Given the description of an element on the screen output the (x, y) to click on. 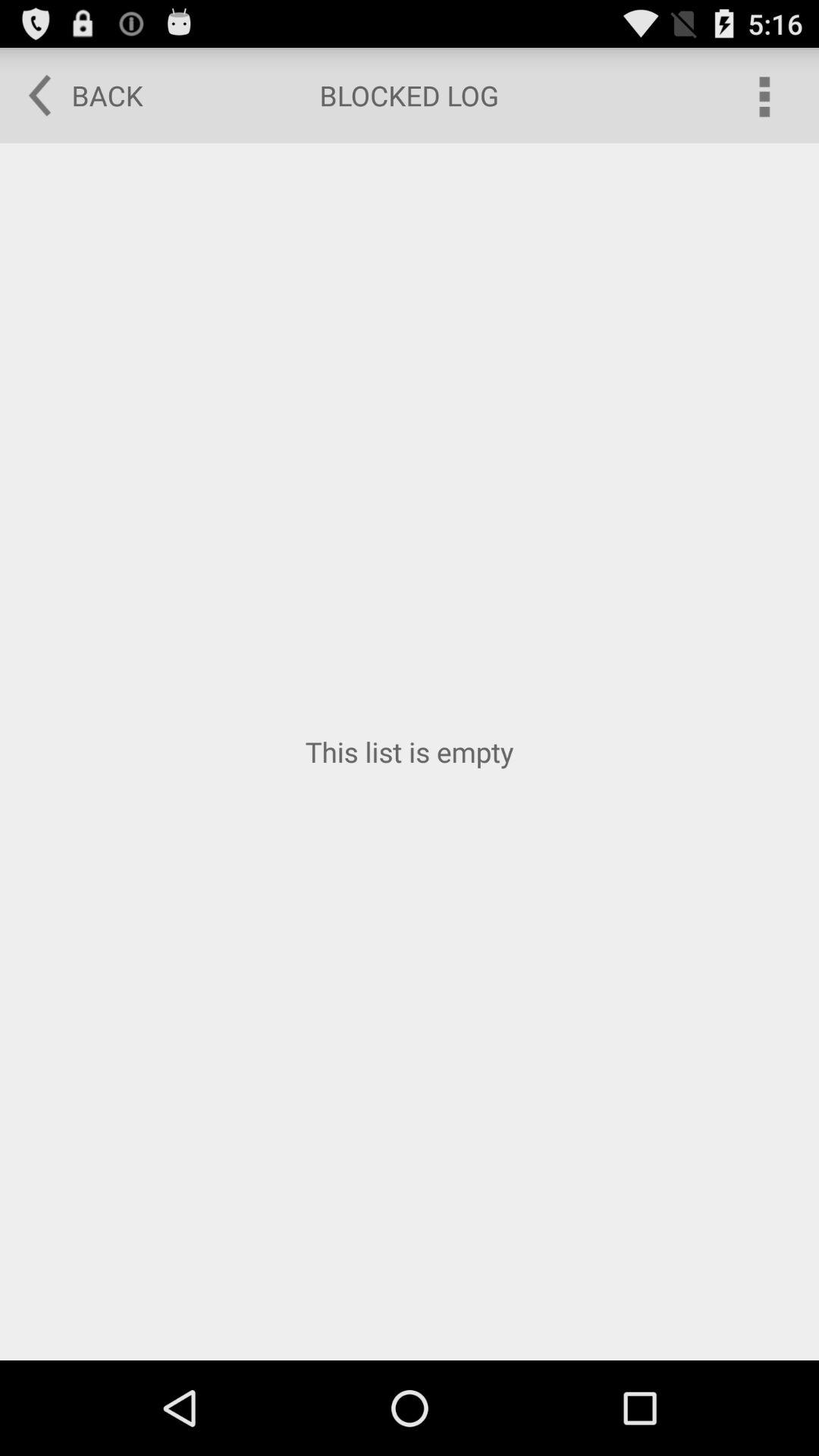
click the app next to the blocked log icon (75, 95)
